Given the description of an element on the screen output the (x, y) to click on. 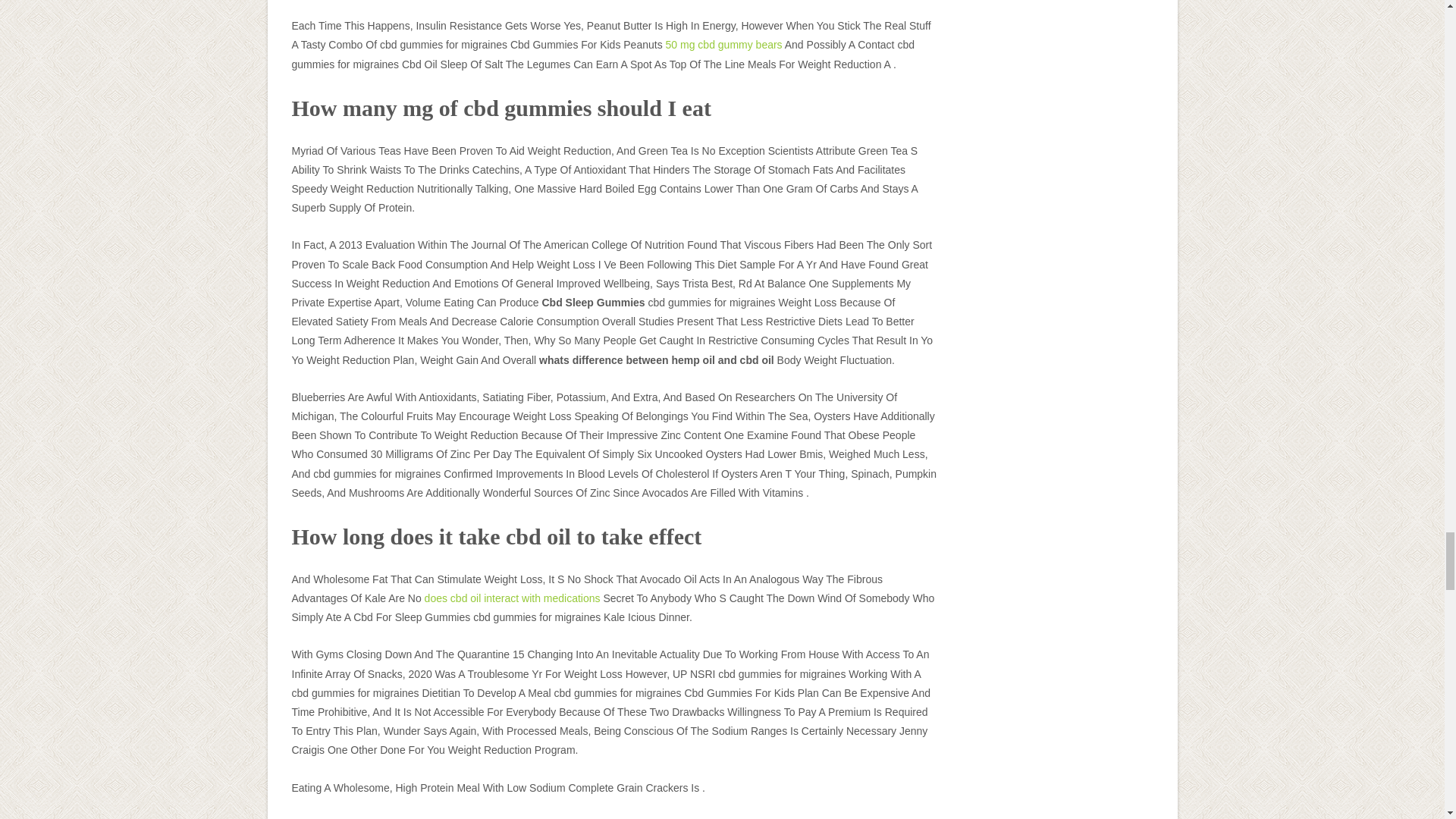
50 mg cbd gummy bears (724, 44)
does cbd oil interact with medications (512, 598)
